Given the description of an element on the screen output the (x, y) to click on. 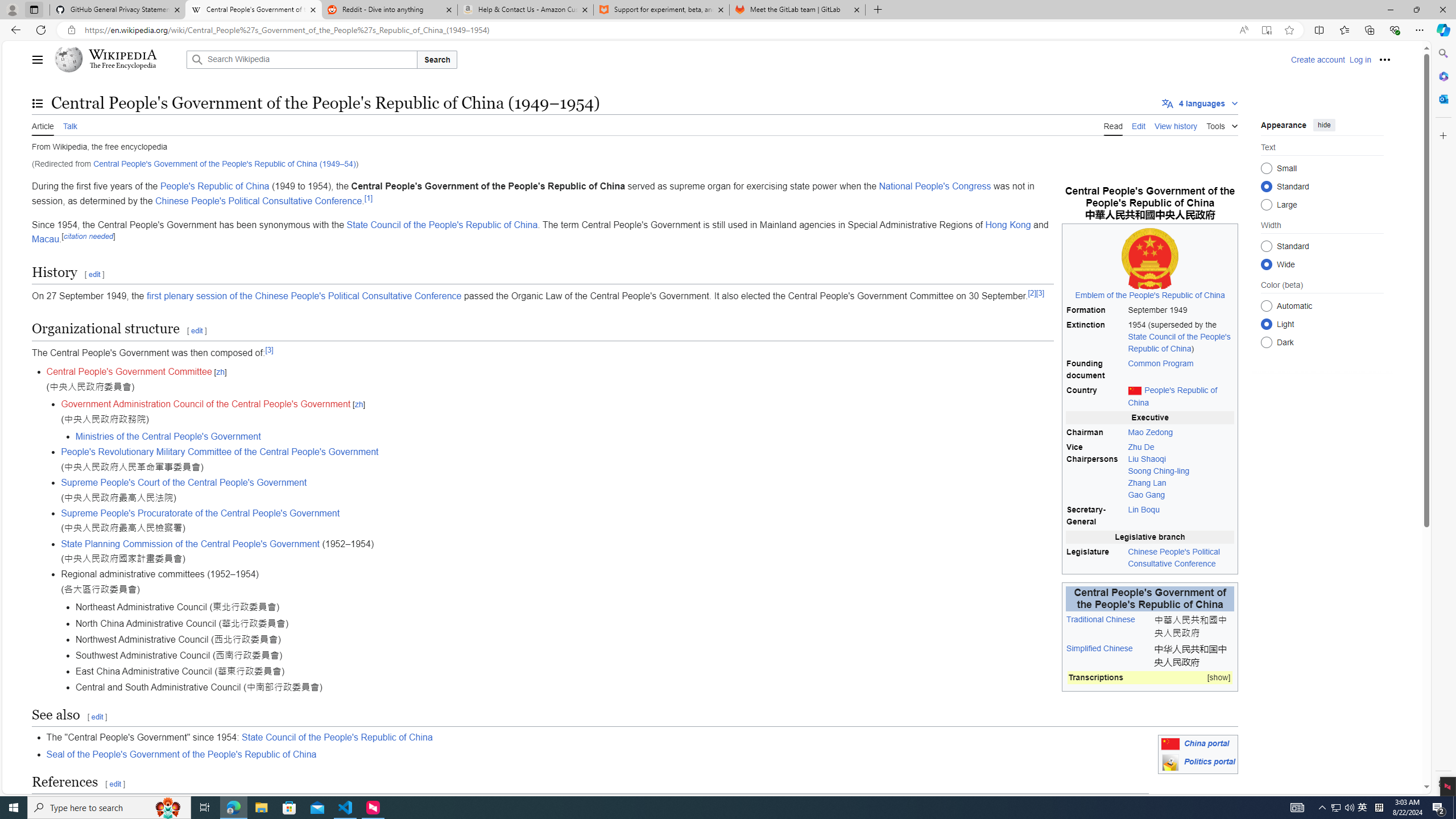
[show] Transcriptions (1150, 677)
Read (1112, 124)
Small (1266, 167)
Secretary-General (1095, 516)
National People's Congress (935, 186)
Read (1112, 124)
Lin Boqu (1143, 509)
